Given the description of an element on the screen output the (x, y) to click on. 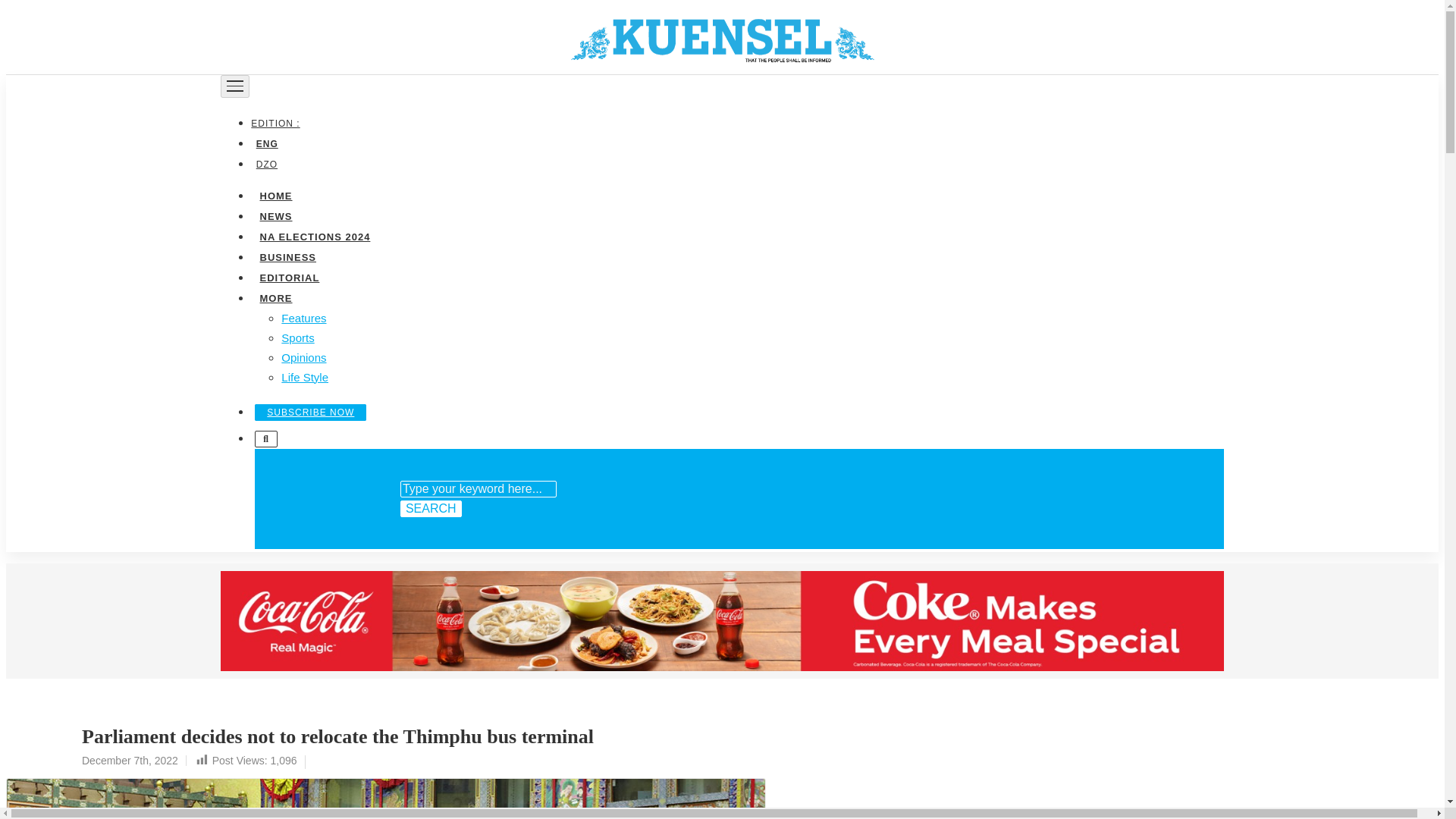
NA ELECTIONS 2024 (314, 235)
EDITORIAL (288, 276)
Features (303, 317)
Life Style (305, 376)
NEWS (274, 215)
ENG (266, 143)
MORE (274, 297)
HOME (274, 194)
Opinions (303, 356)
Sports (297, 336)
